Given the description of an element on the screen output the (x, y) to click on. 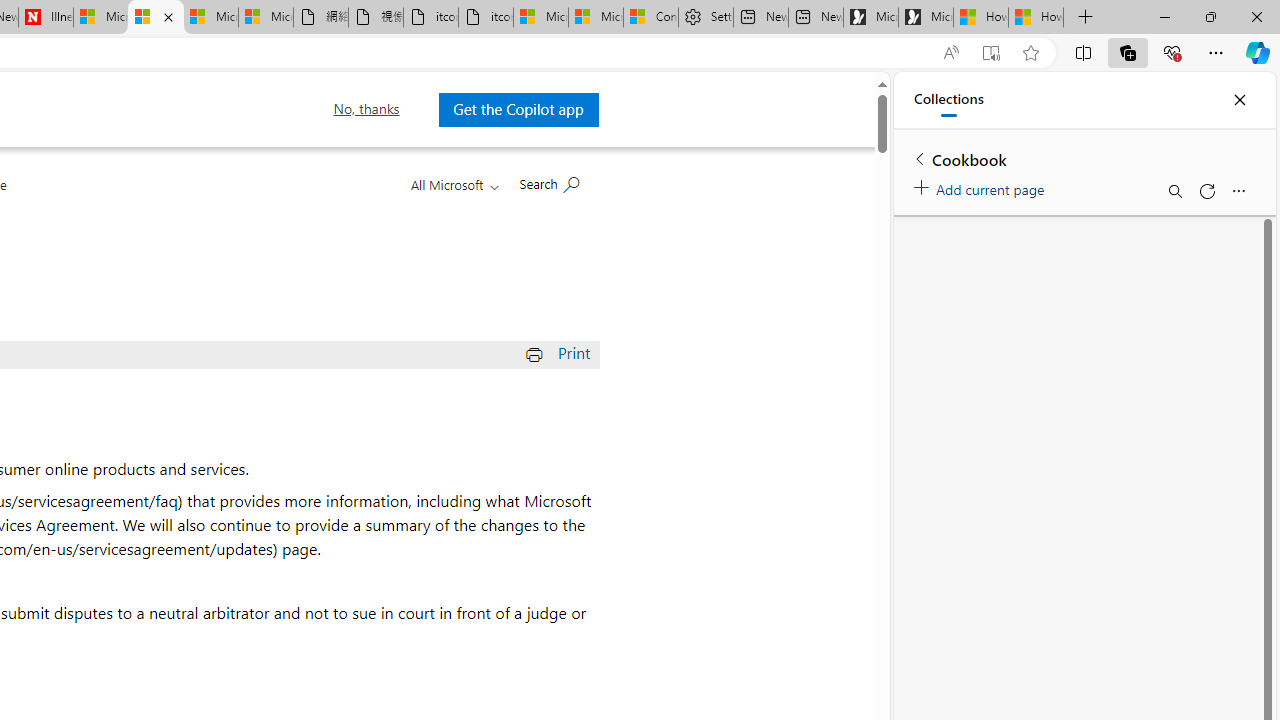
How to Use a TV as a Computer Monitor (1035, 17)
Search Microsoft.com (548, 182)
Illness news & latest pictures from Newsweek.com (45, 17)
No, thanks (366, 109)
Microsoft Start Gaming (925, 17)
itconcepthk.com/projector_solutions.mp4 (486, 17)
